Given the description of an element on the screen output the (x, y) to click on. 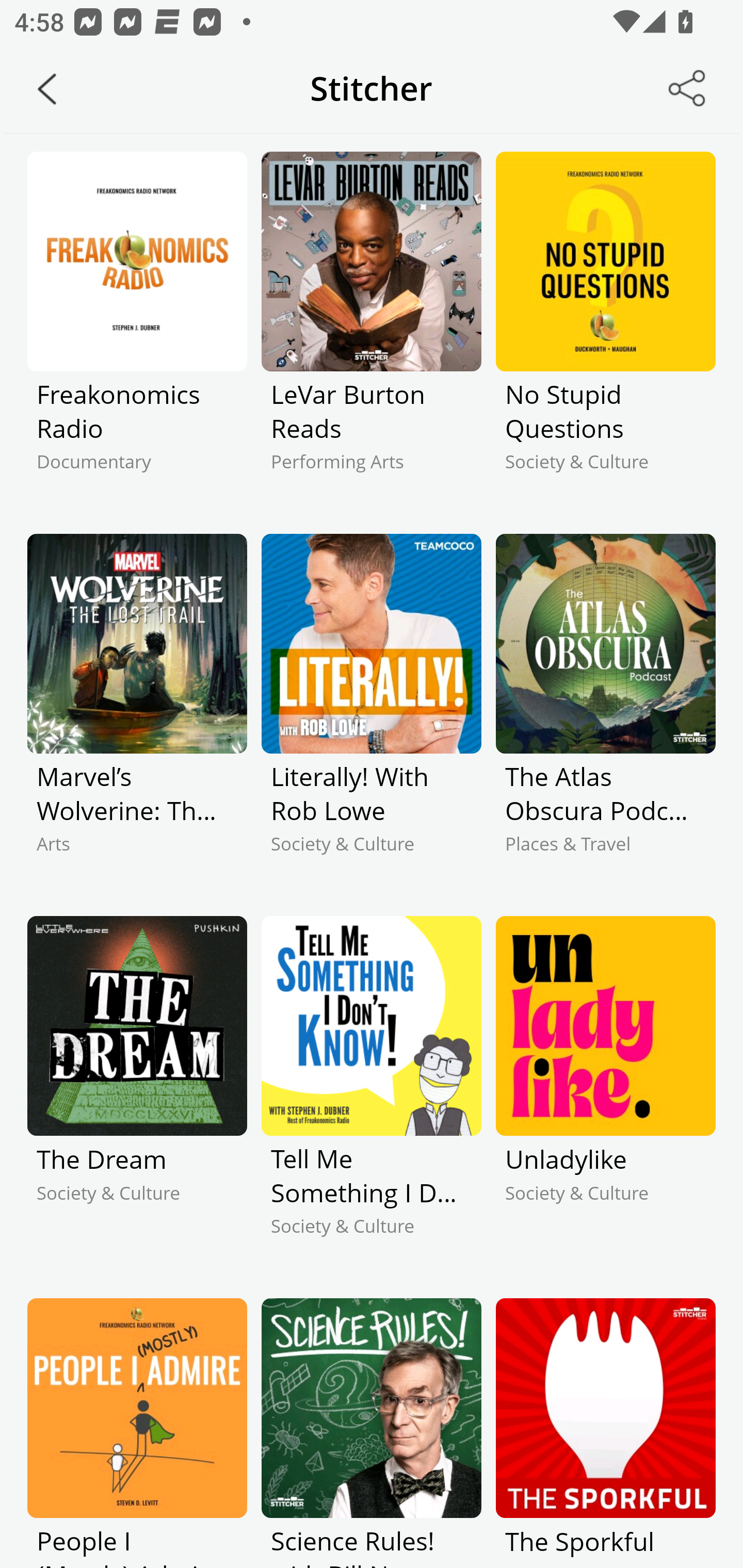
Back (46, 88)
Freakonomics Radio Documentary (137, 329)
LeVar Burton Reads Performing Arts (371, 329)
No Stupid Questions Society & Culture (605, 329)
Marvel’s Wolverine: The Lost Trail Arts (137, 711)
Literally! With Rob Lowe Society & Culture (371, 711)
The Atlas Obscura Podcast Places & Travel (605, 711)
The Dream Society & Culture (137, 1093)
Tell Me Something I Don't Know Society & Culture (371, 1093)
Unladylike Society & Culture (605, 1093)
People I (Mostly) Admire (137, 1433)
Science Rules! with Bill Nye (371, 1433)
The Sporkful Arts (605, 1433)
